Given the description of an element on the screen output the (x, y) to click on. 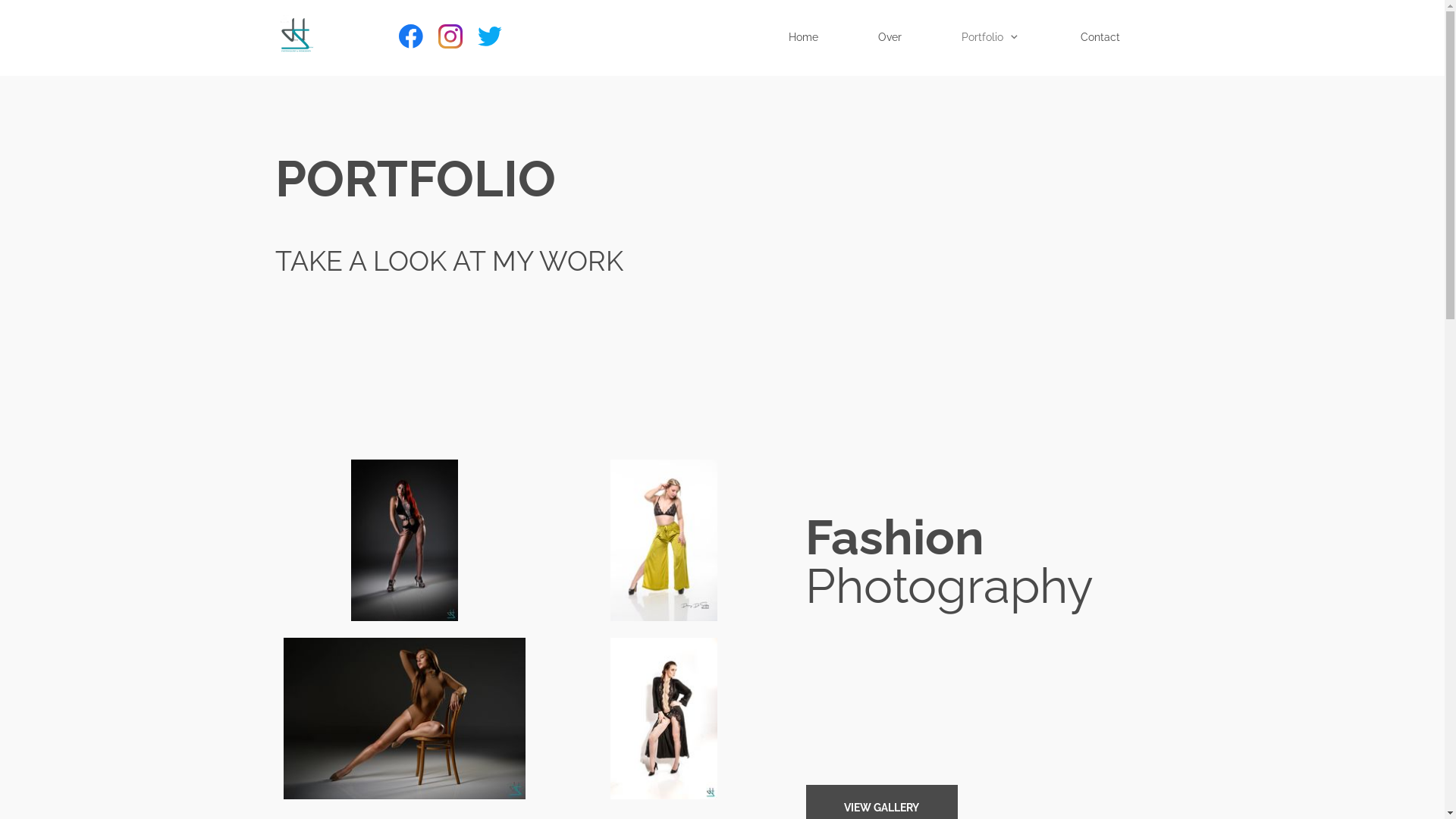
Portfolio Element type: text (997, 38)
Contact Element type: text (1107, 38)
Over Element type: text (896, 38)
_DDS2424-bewerkt-bewerkt Element type: hover (663, 718)
DDS_1466-bewerkt Element type: hover (404, 540)
Home Element type: text (810, 38)
DDS_6169-bewerkt-bewerkt Element type: hover (663, 540)
DDS_1466-bewerkt Element type: hover (404, 540)
DDS_3848-bewerkt Element type: hover (404, 718)
